Given the description of an element on the screen output the (x, y) to click on. 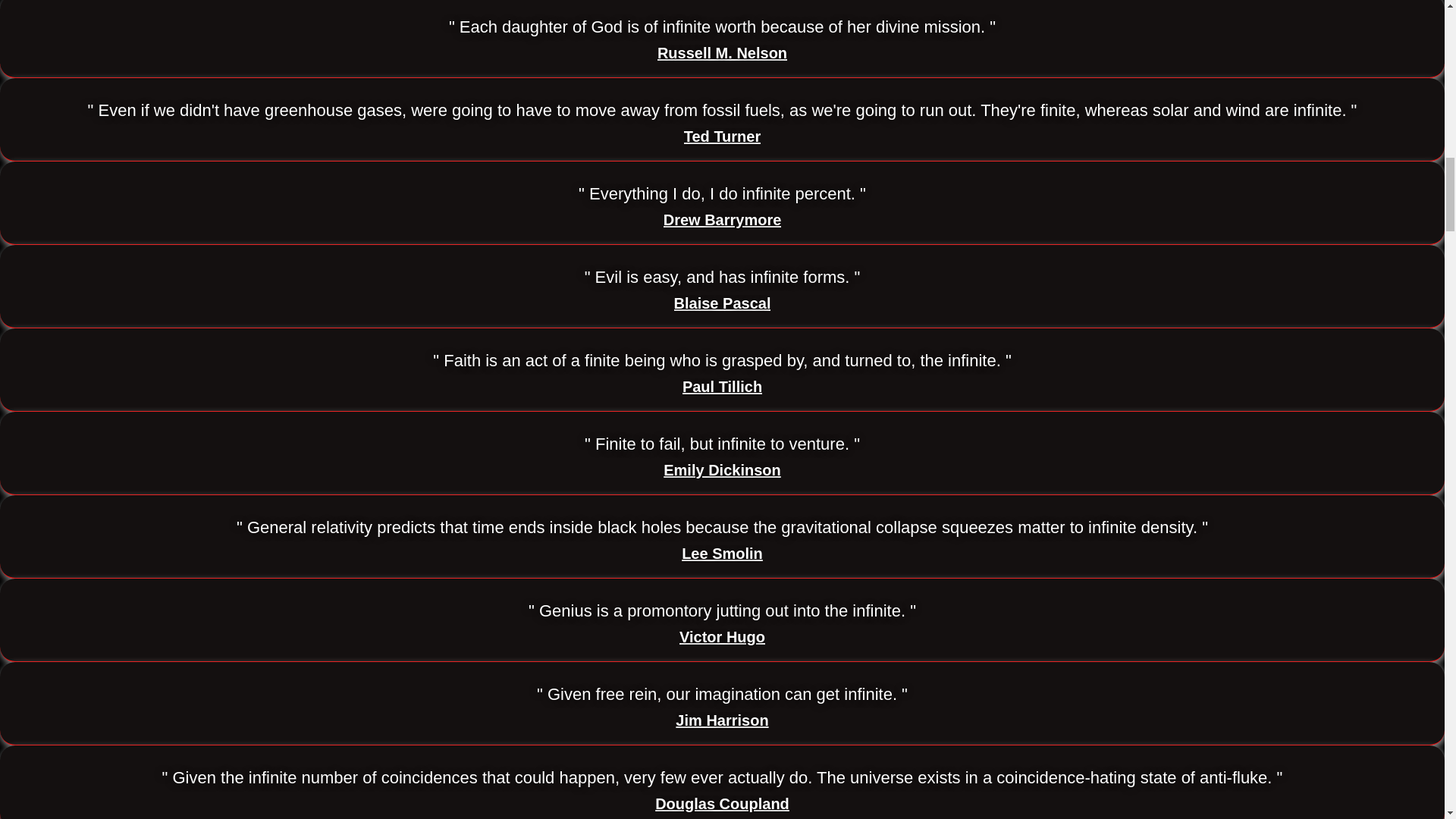
Russell M. Nelson (722, 53)
